Given the description of an element on the screen output the (x, y) to click on. 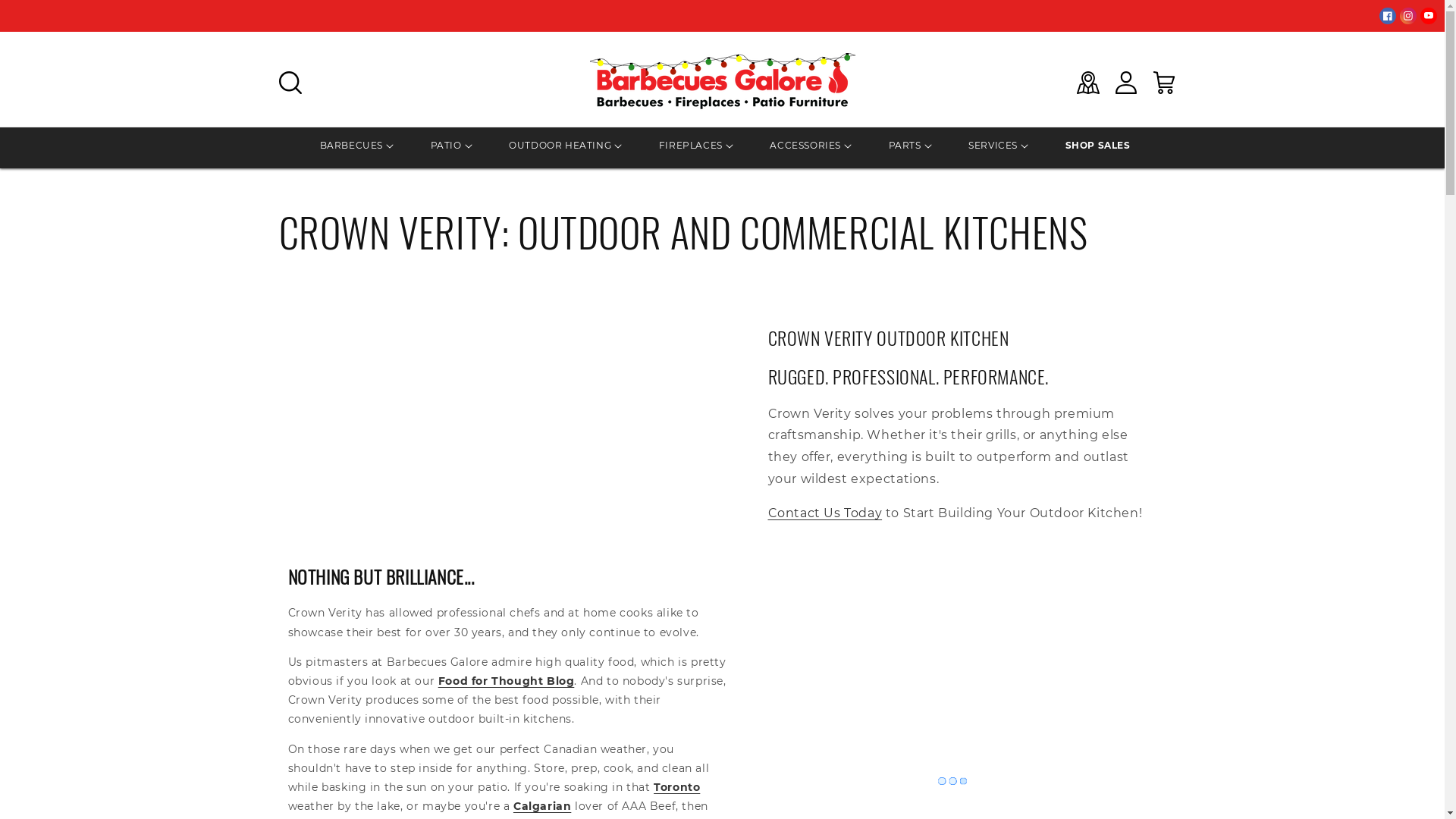
FIREPLACES Element type: text (690, 144)
YouTube video player Element type: hover (500, 414)
Log in Element type: text (1125, 82)
Contact Us Today Element type: text (824, 512)
OUTDOOR HEATING Element type: text (559, 144)
Cart Element type: text (1163, 82)
Calgarian Element type: text (542, 805)
PATIO Element type: text (445, 144)
BARBECUES Element type: text (351, 144)
Food for Thought Blog Element type: text (506, 680)
Toronto Element type: text (676, 786)
ACCESSORIES Element type: text (804, 144)
PARTS Element type: text (904, 144)
SERVICES Element type: text (992, 144)
SHOP SALES Element type: text (1097, 144)
